Given the description of an element on the screen output the (x, y) to click on. 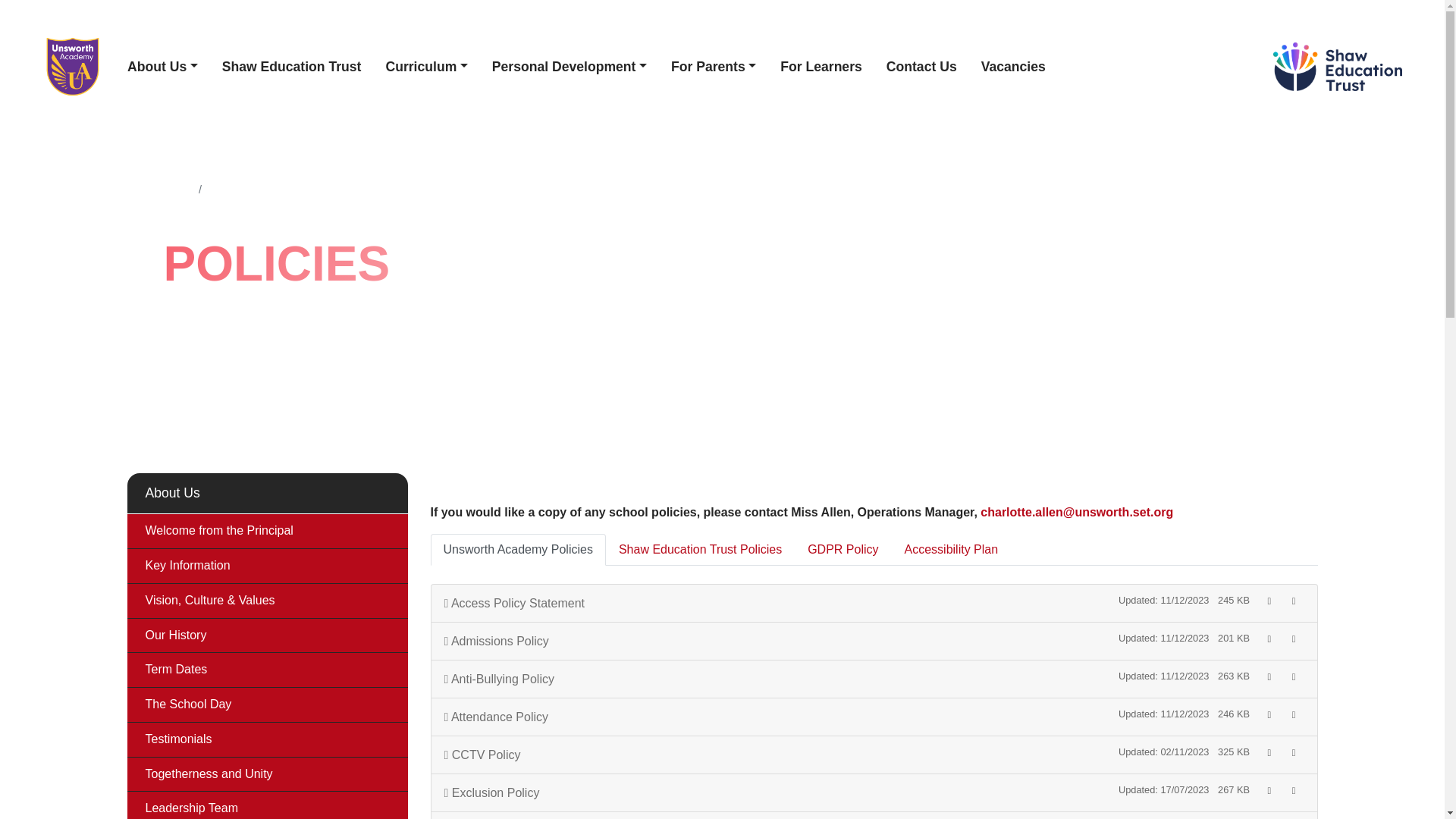
Curriculum (425, 66)
Shaw Education Trust (291, 66)
Print (1270, 816)
Download (1293, 816)
About Us (162, 66)
Personal Development (569, 66)
